Given the description of an element on the screen output the (x, y) to click on. 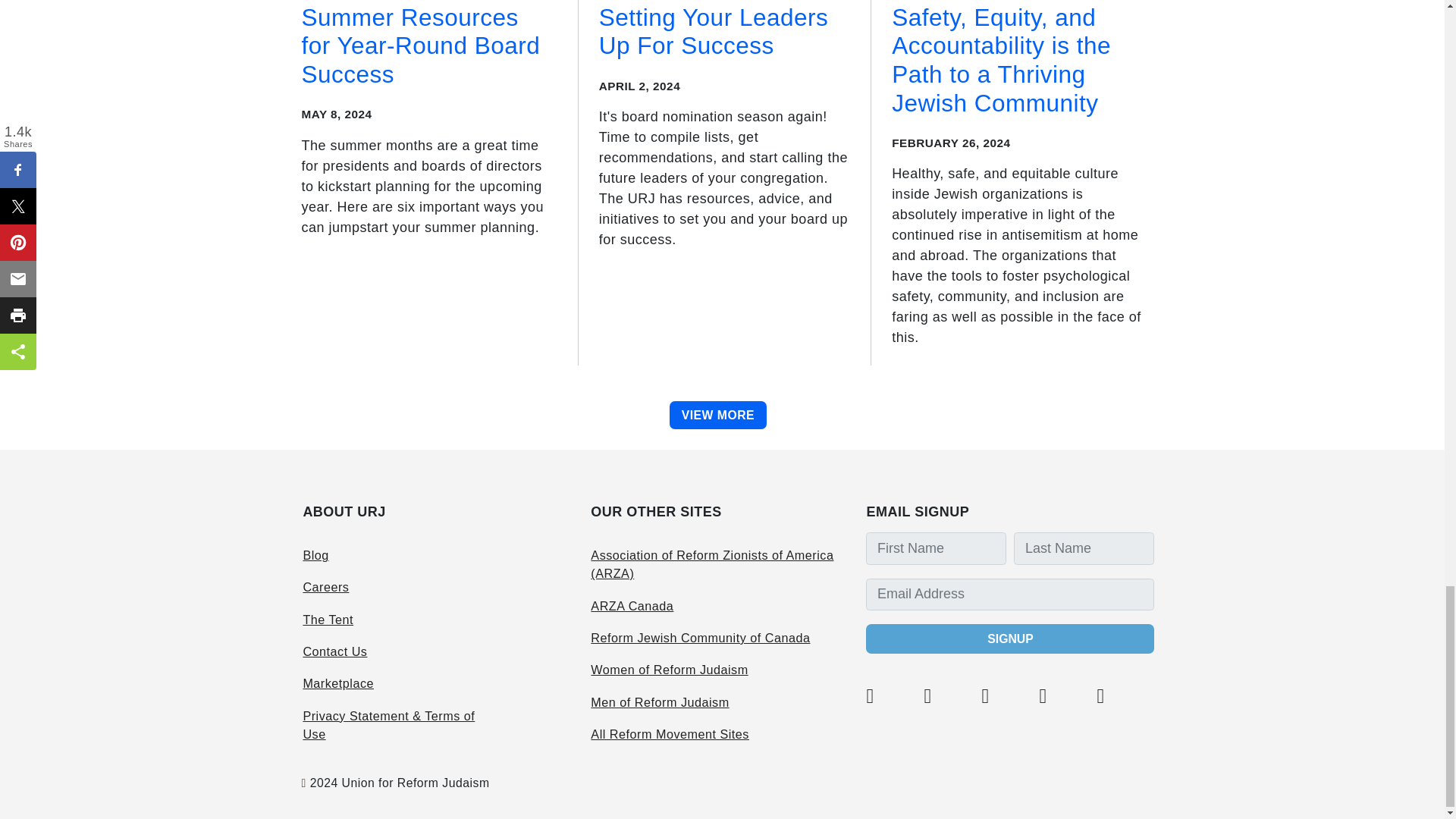
Wednesday, May 8, 2024 - 05:02pm (336, 113)
Signup (1010, 638)
Tuesday, April 2, 2024 - 05:22pm (638, 85)
Monday, February 26, 2024 - 10:24am (950, 142)
